Given the description of an element on the screen output the (x, y) to click on. 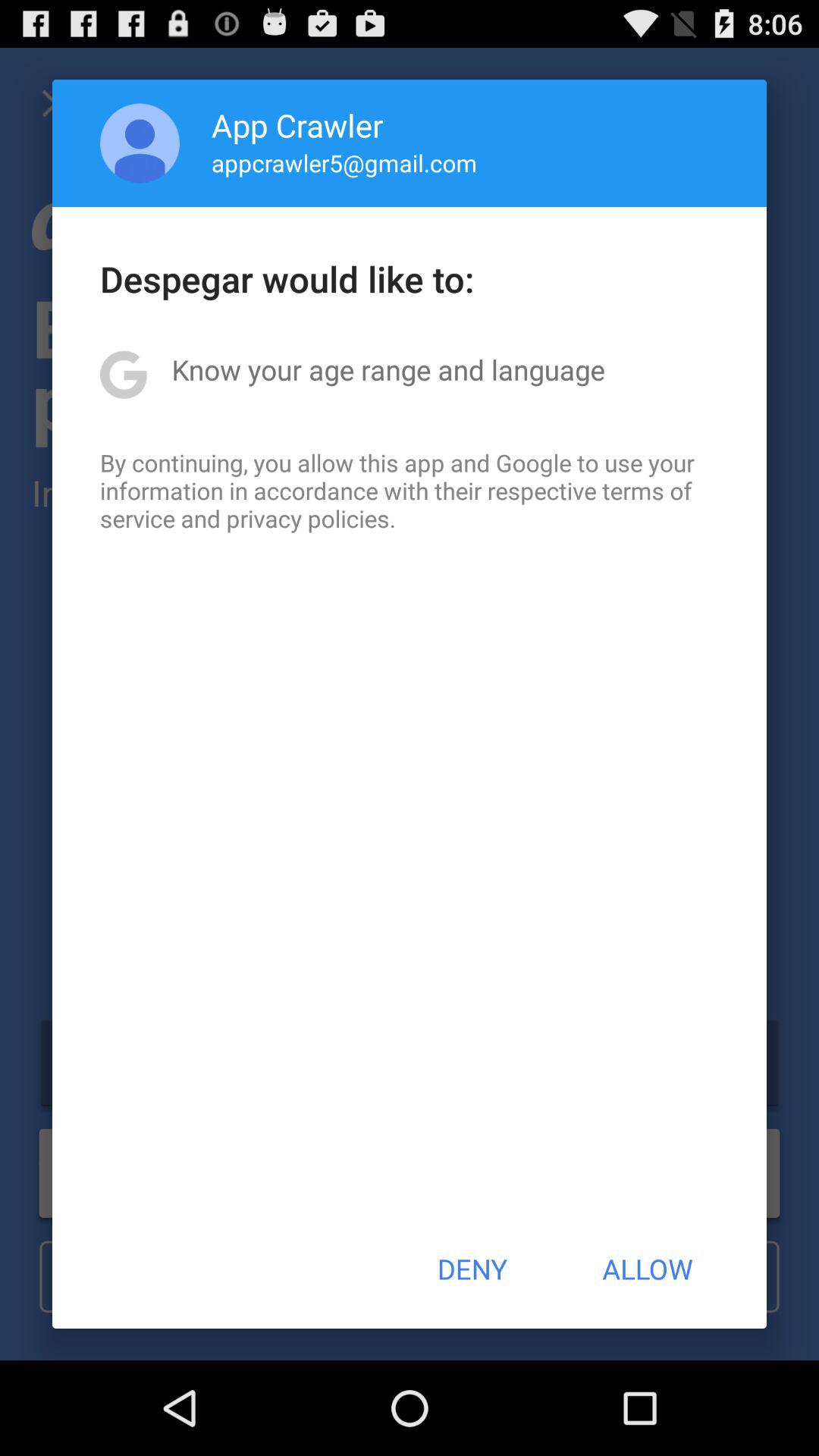
choose the icon below the despegar would like icon (388, 369)
